Given the description of an element on the screen output the (x, y) to click on. 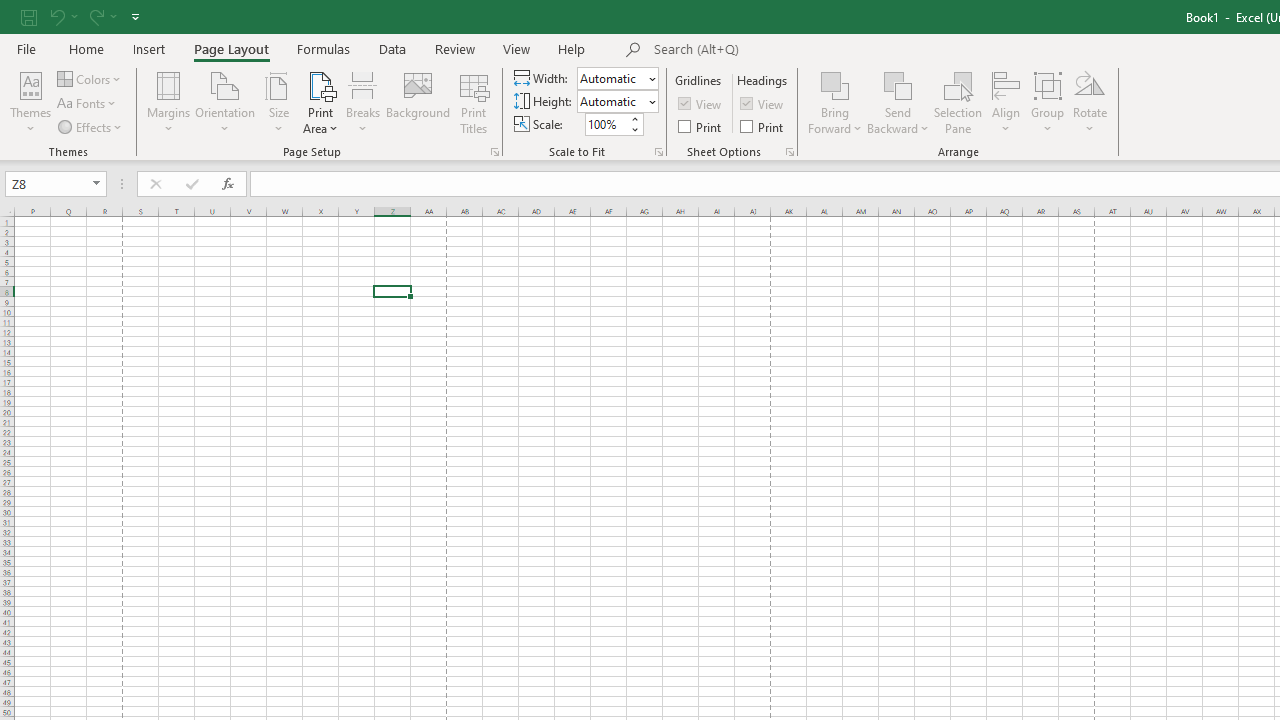
Height (611, 101)
Help (572, 48)
Colors (90, 78)
Margins (168, 102)
Themes (30, 102)
Fonts (87, 103)
Send Backward (898, 102)
